Given the description of an element on the screen output the (x, y) to click on. 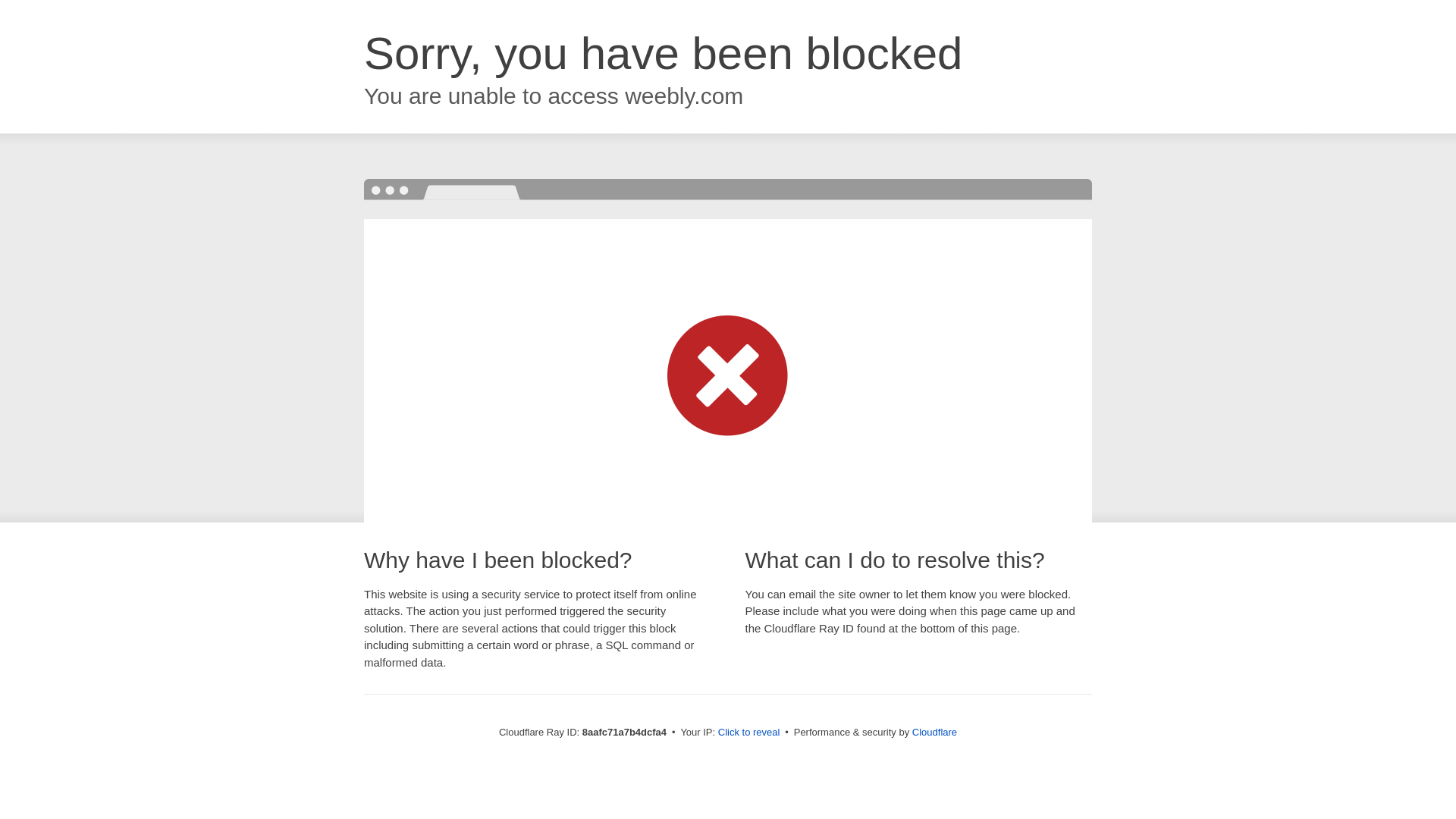
Cloudflare (934, 731)
Click to reveal (748, 732)
